Given the description of an element on the screen output the (x, y) to click on. 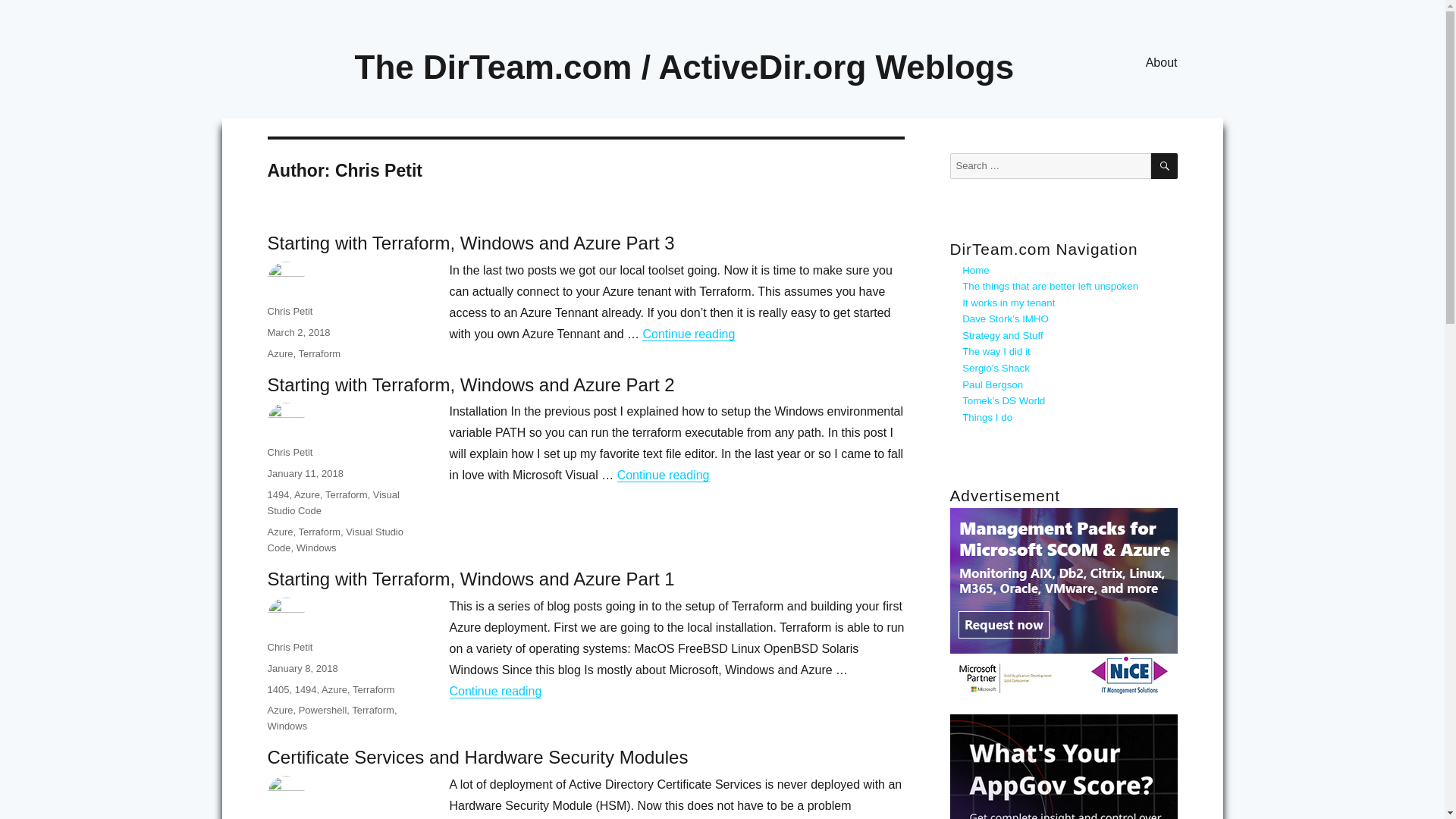
Chris Petit (289, 646)
Starting with Terraform, Windows and Azure Part 1 (470, 578)
Terraform (319, 531)
Powershell (322, 709)
Azure (334, 689)
Azure (279, 709)
Azure (307, 494)
Windows (286, 726)
